Given the description of an element on the screen output the (x, y) to click on. 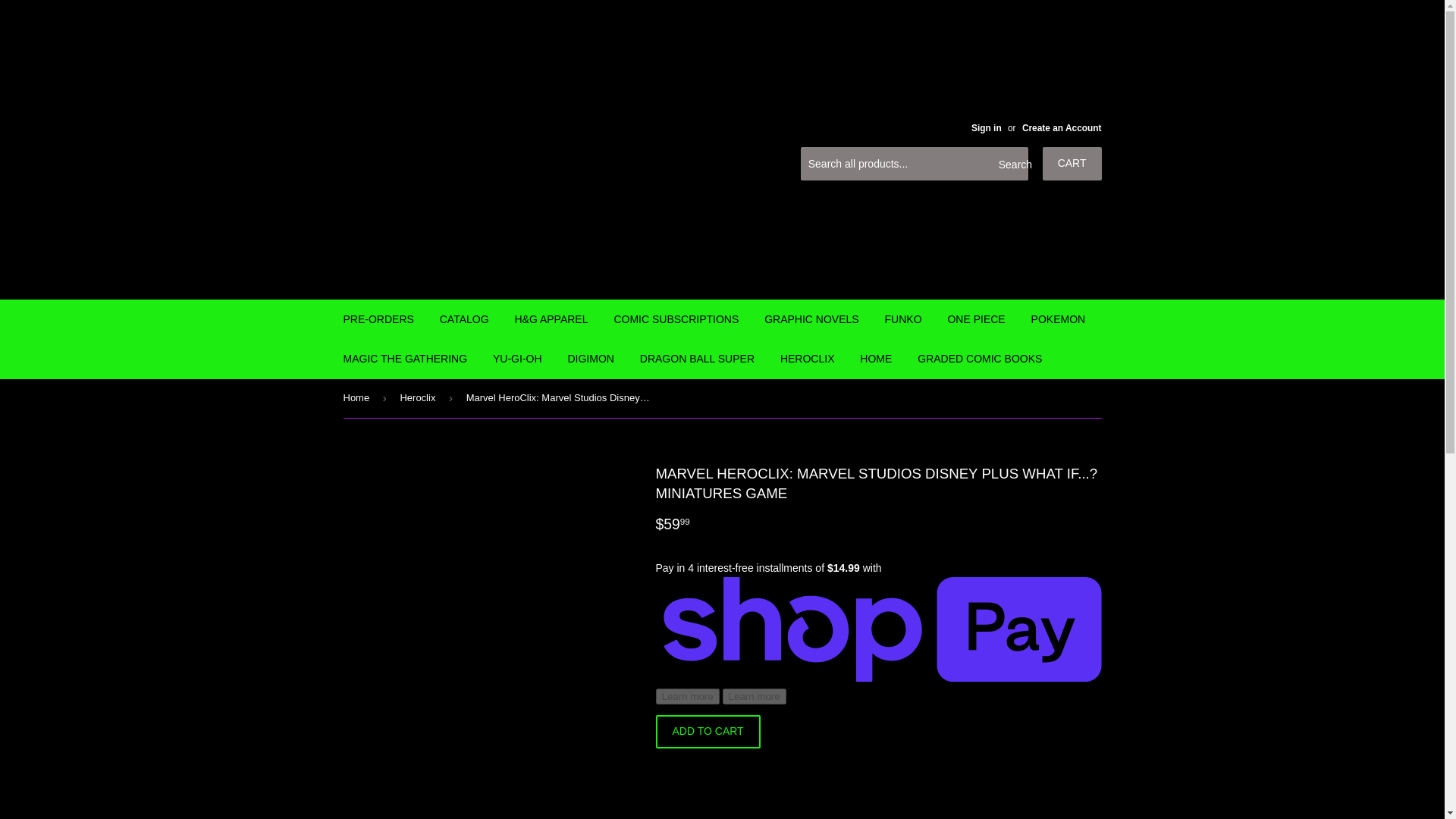
YU-GI-OH (517, 358)
CART (1072, 163)
FUNKO (903, 319)
CATALOG (464, 319)
GRAPHIC NOVELS (810, 319)
MAGIC THE GATHERING (405, 358)
Search (1010, 164)
Create an Account (1062, 127)
PRE-ORDERS (378, 319)
COMIC SUBSCRIPTIONS (675, 319)
